Given the description of an element on the screen output the (x, y) to click on. 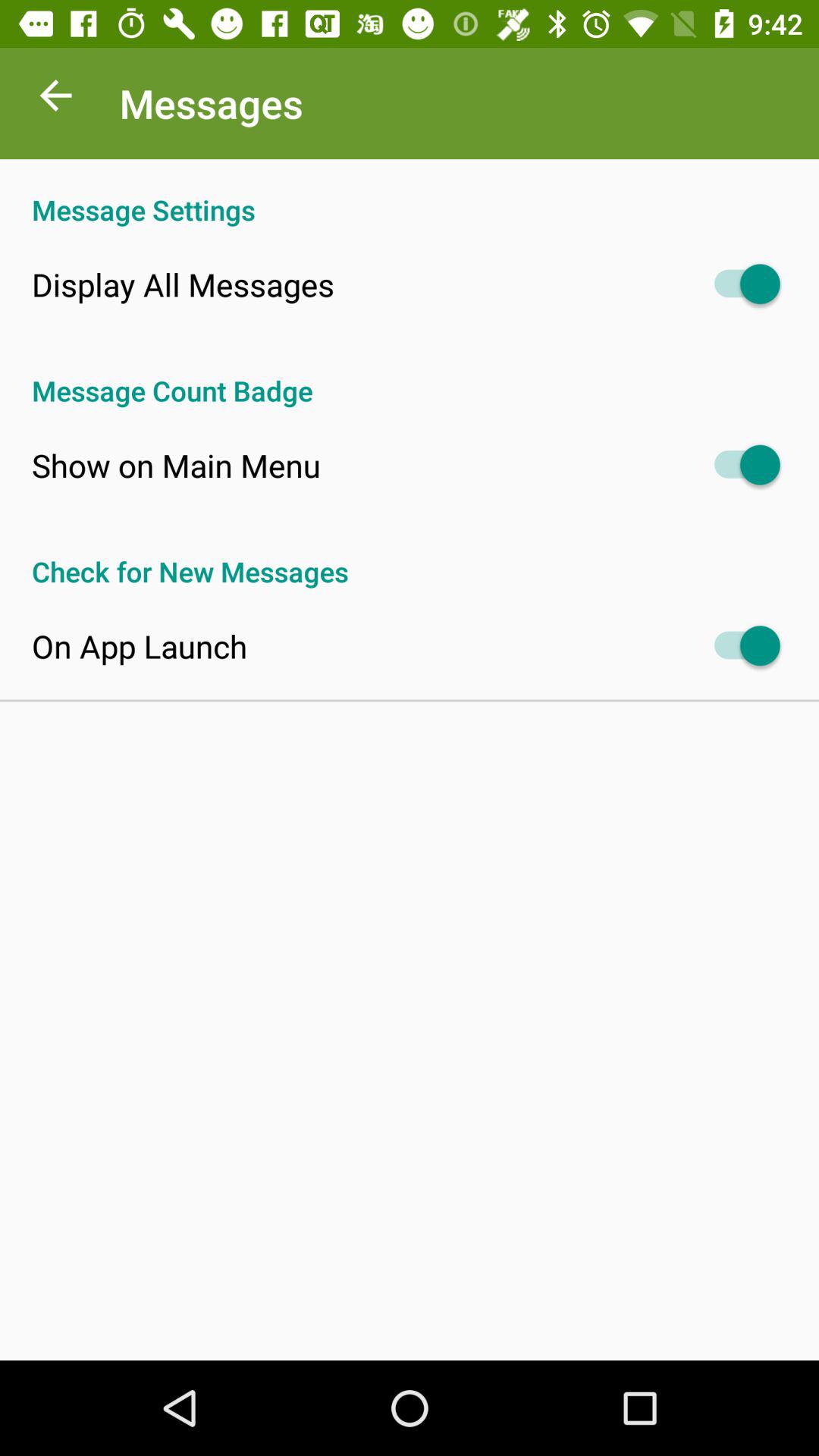
jump until check for new item (409, 555)
